Given the description of an element on the screen output the (x, y) to click on. 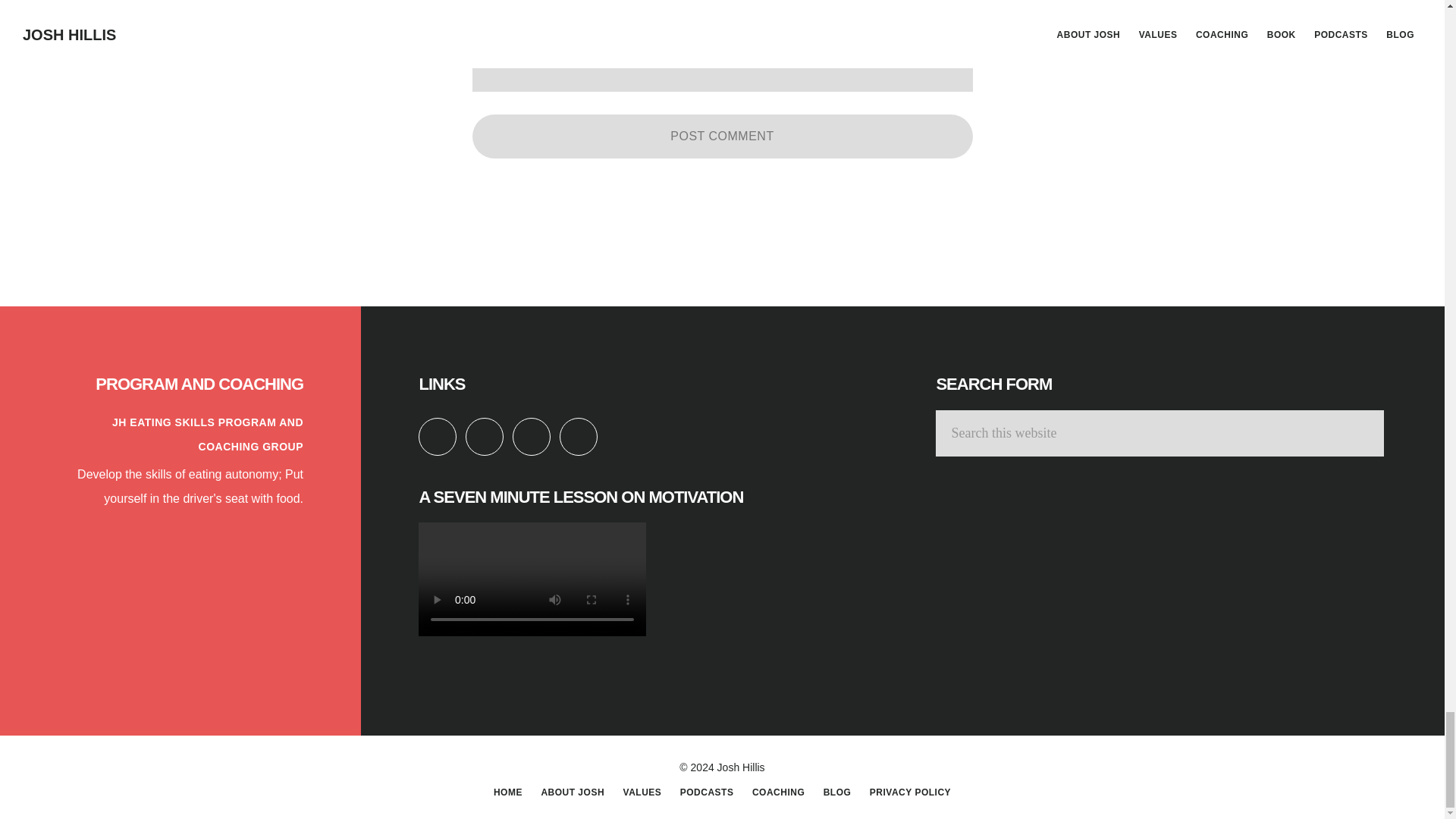
Post Comment (721, 136)
Post Comment (721, 136)
COACHING (778, 791)
VALUES (642, 791)
HOME (507, 791)
BLOG (837, 791)
ABOUT JOSH (572, 791)
PRIVACY POLICY (909, 791)
PODCASTS (706, 791)
JH EATING SKILLS PROGRAM AND COACHING GROUP (207, 434)
